Given the description of an element on the screen output the (x, y) to click on. 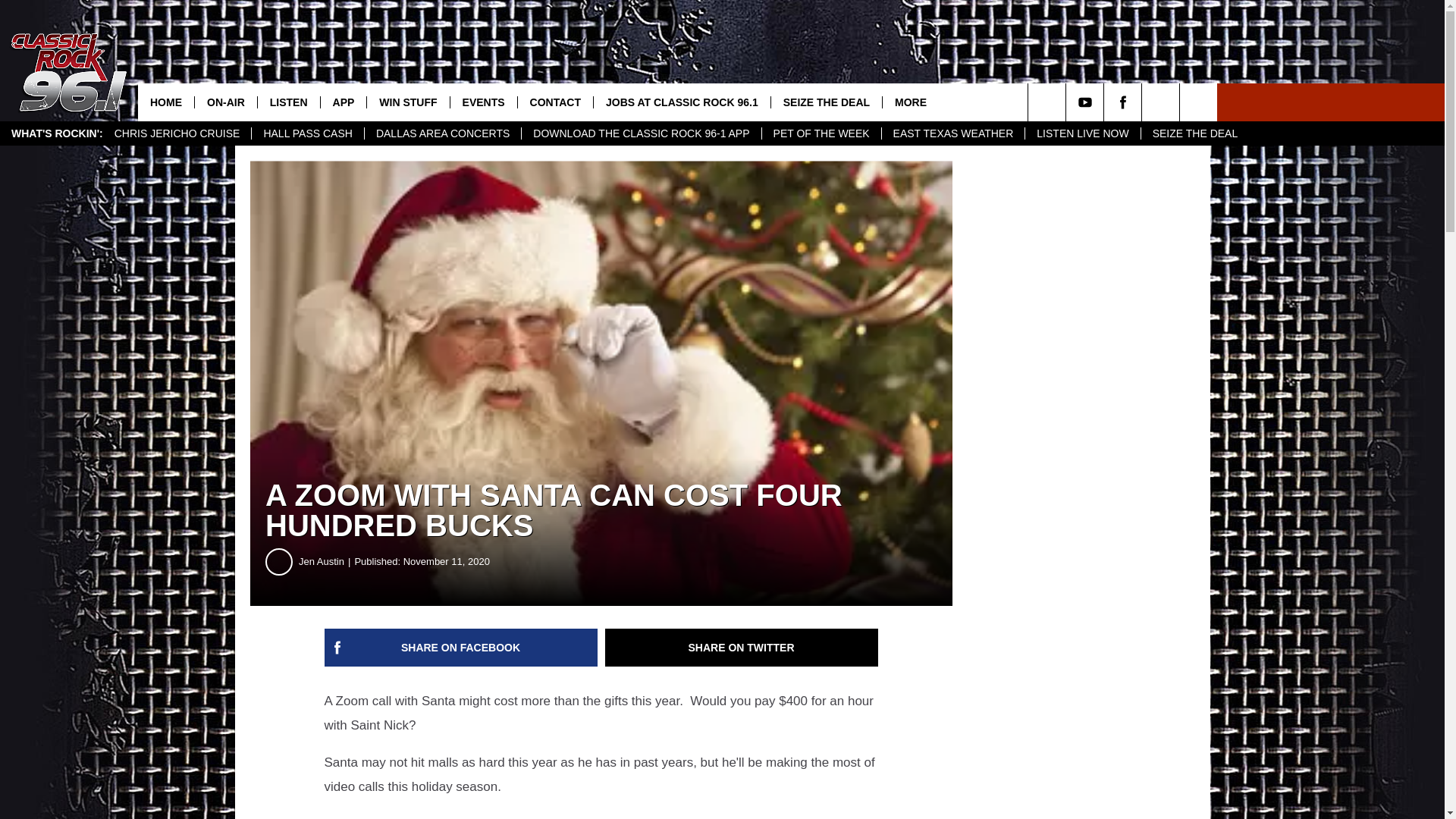
EVENTS (482, 102)
DOWNLOAD THE CLASSIC ROCK 96-1 APP (640, 133)
ON-AIR (225, 102)
Share on Twitter (741, 647)
LISTEN (288, 102)
APP (343, 102)
CONTACT (554, 102)
HALL PASS CASH (307, 133)
Share on Facebook (460, 647)
DALLAS AREA CONCERTS (442, 133)
